Given the description of an element on the screen output the (x, y) to click on. 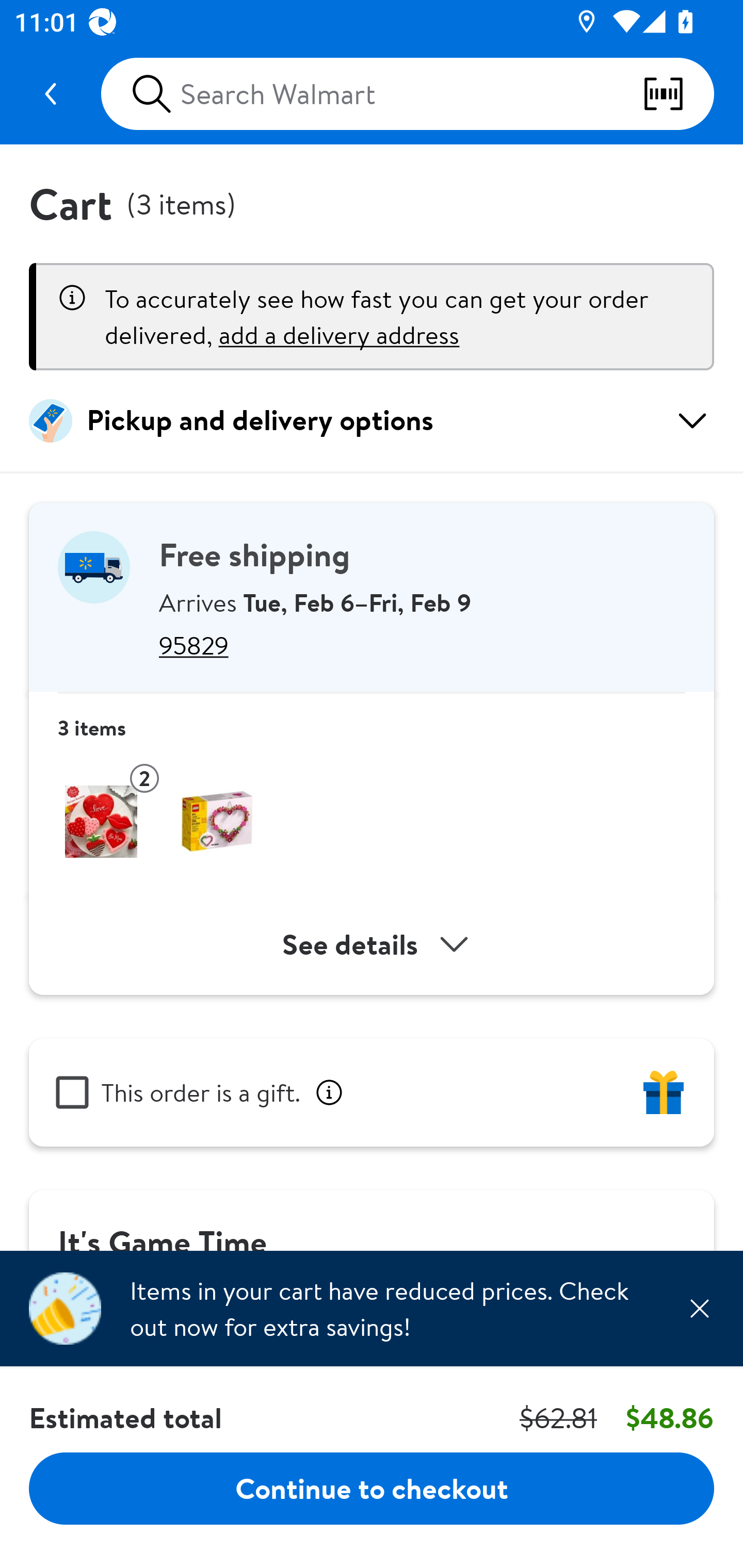
Navigate up (50, 93)
Search Walmart Opens barcode scanner (407, 94)
Opens barcode scanner (677, 94)
95829 (422, 645)
See details Collapsed See details (371, 944)
This order is a gift. Learn more about gifting (371, 1092)
Learn more about gifting (329, 1092)
Close (699, 1308)
Continue to checkout (371, 1487)
